Given the description of an element on the screen output the (x, y) to click on. 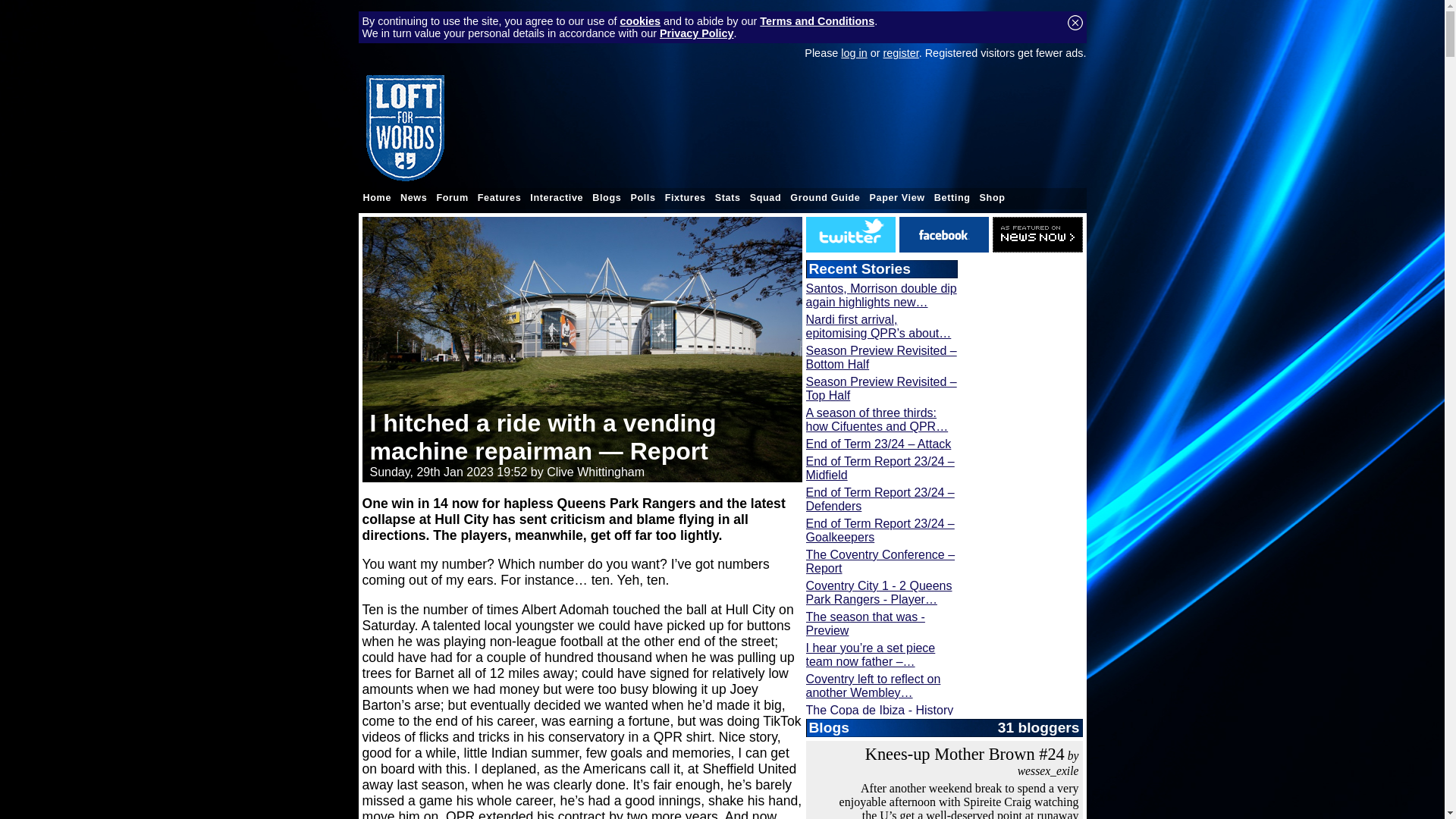
register (900, 52)
log in (853, 52)
Privacy Policy (696, 33)
Home (377, 198)
Forum (450, 198)
News (413, 198)
Features (499, 198)
Terms and Conditions (817, 21)
cookies (640, 21)
